Given the description of an element on the screen output the (x, y) to click on. 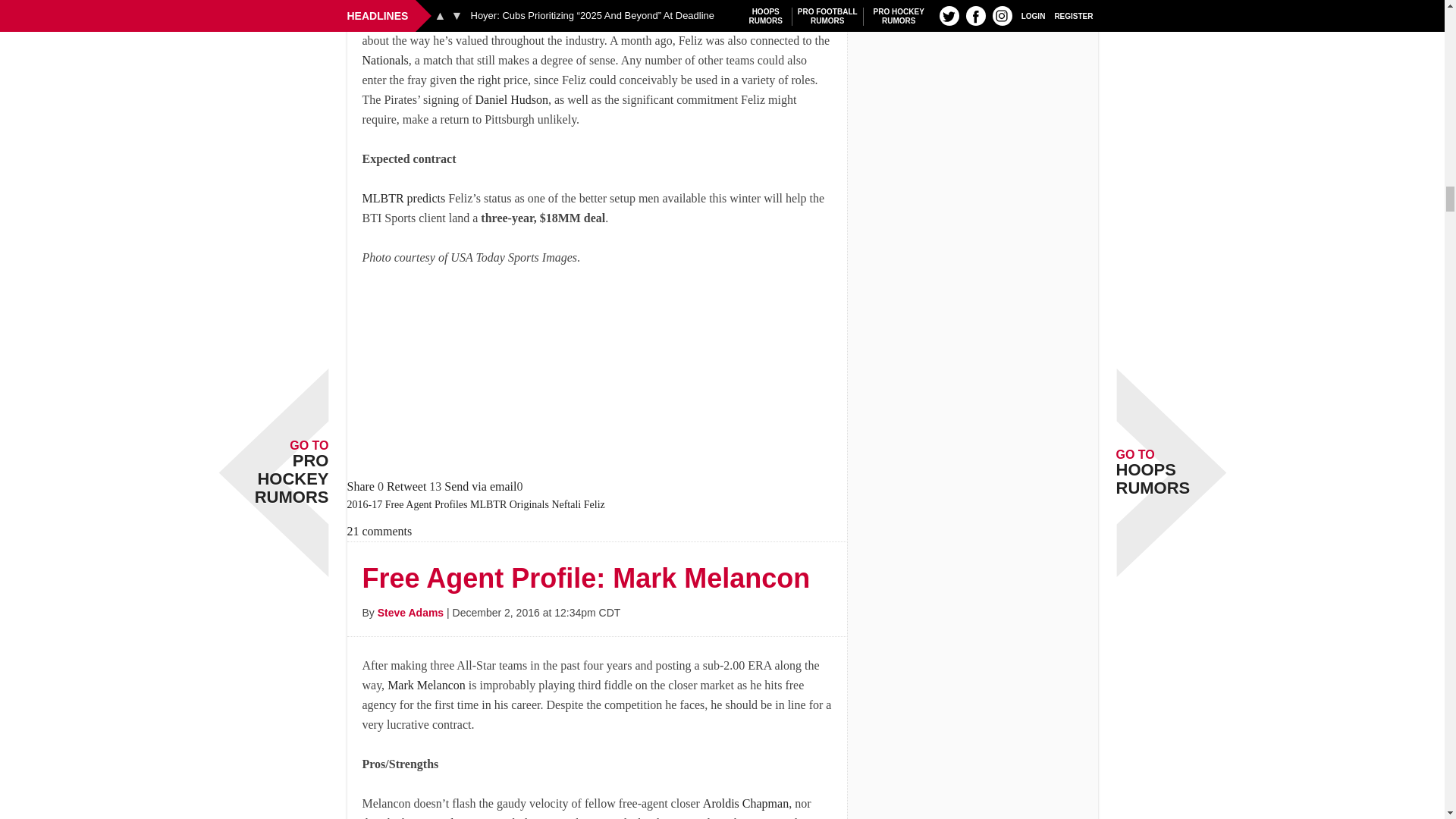
Retweet 'Free Agent Profile: Neftali Feliz' on Twitter (406, 486)
Send Free Agent Profile: Neftali Feliz with an email (480, 486)
Share 'Free Agent Profile: Neftali Feliz' on Facebook (360, 486)
